Given the description of an element on the screen output the (x, y) to click on. 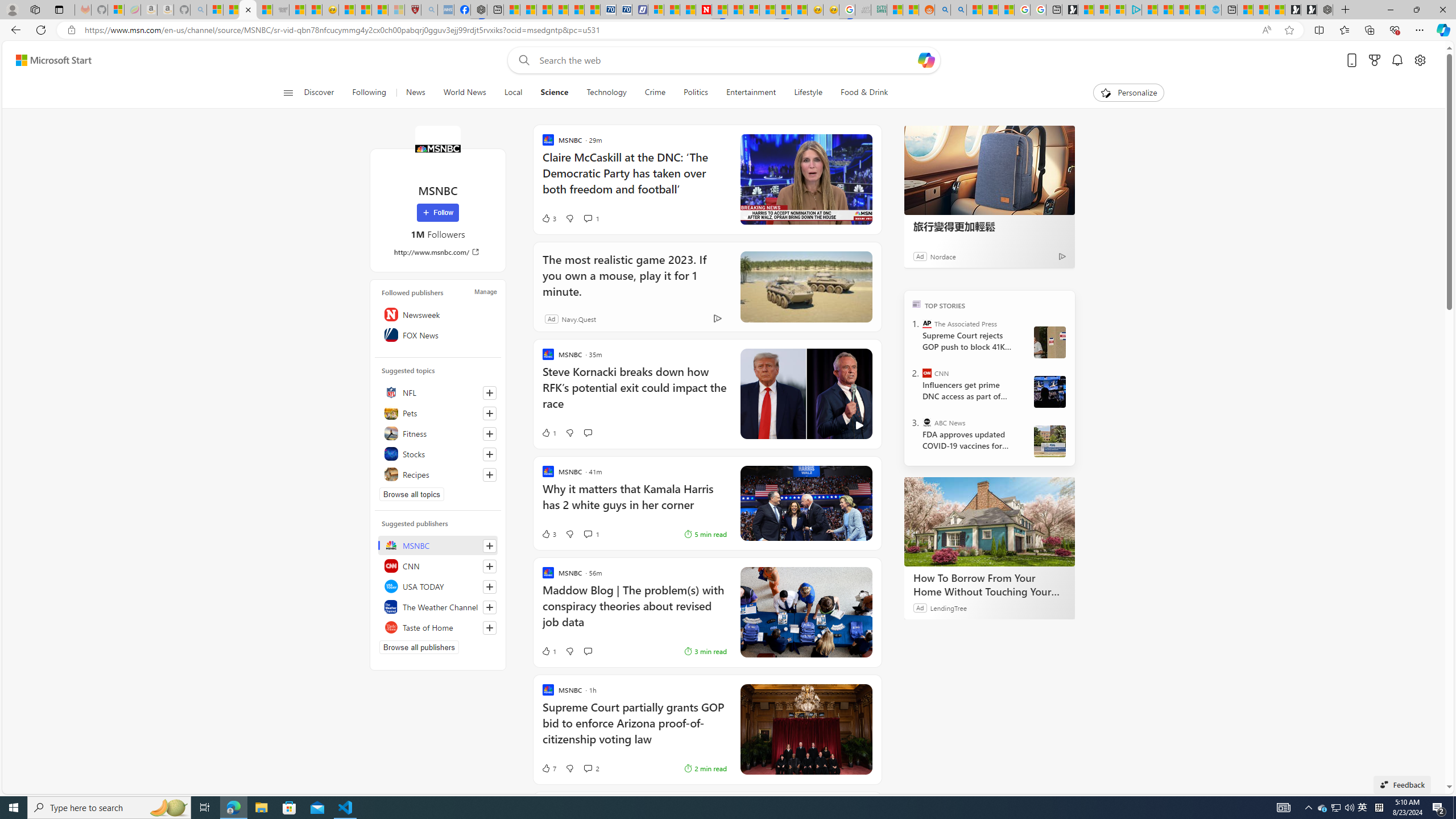
Stocks (437, 453)
USA TODAY (437, 586)
Start the conversation (587, 651)
